Given the description of an element on the screen output the (x, y) to click on. 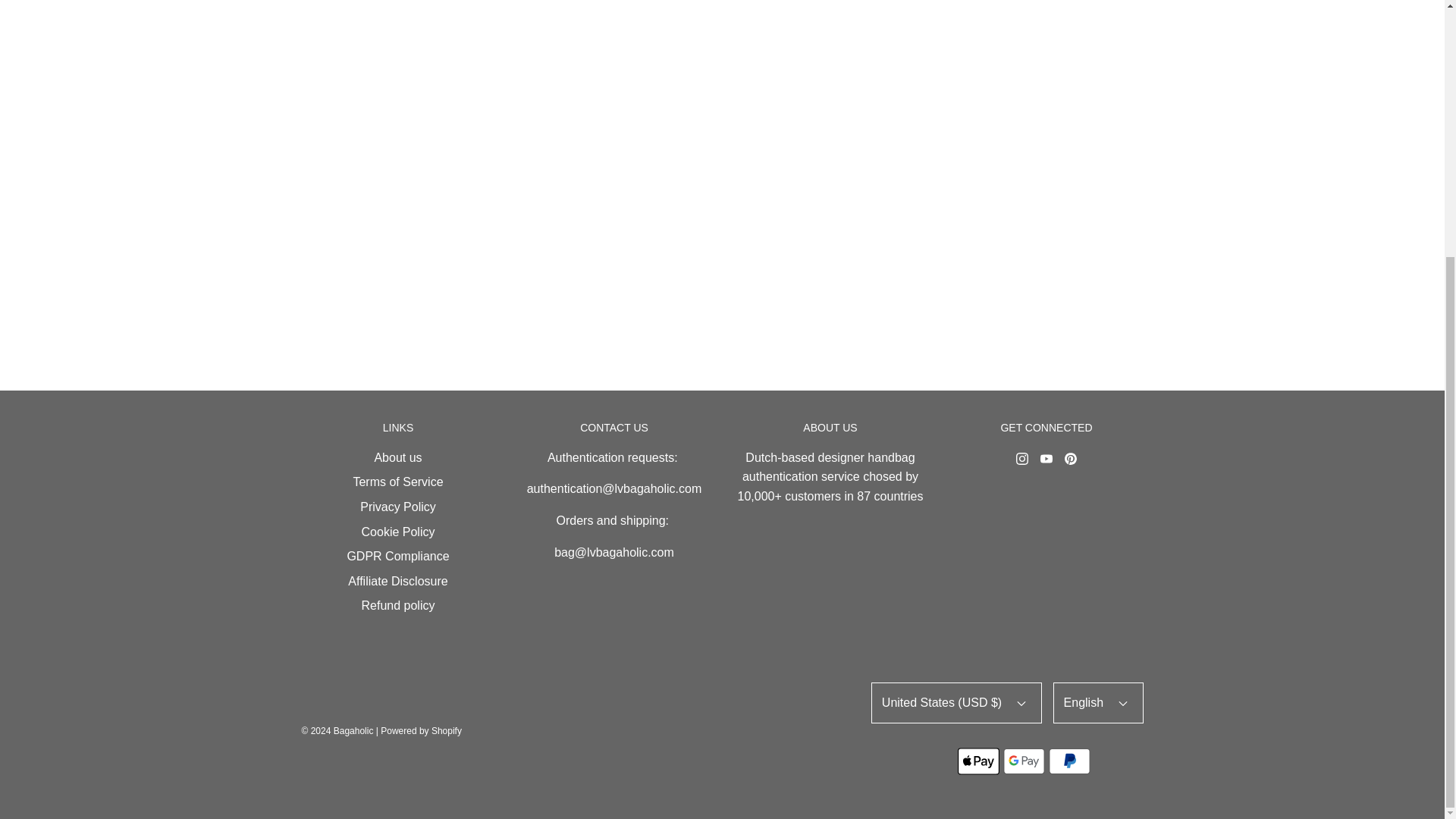
YouTube icon (1046, 458)
Google Pay (1024, 761)
Instagram icon (1021, 458)
Pinterest icon (1070, 458)
Apple Pay (978, 761)
PayPal (1069, 761)
